Given the description of an element on the screen output the (x, y) to click on. 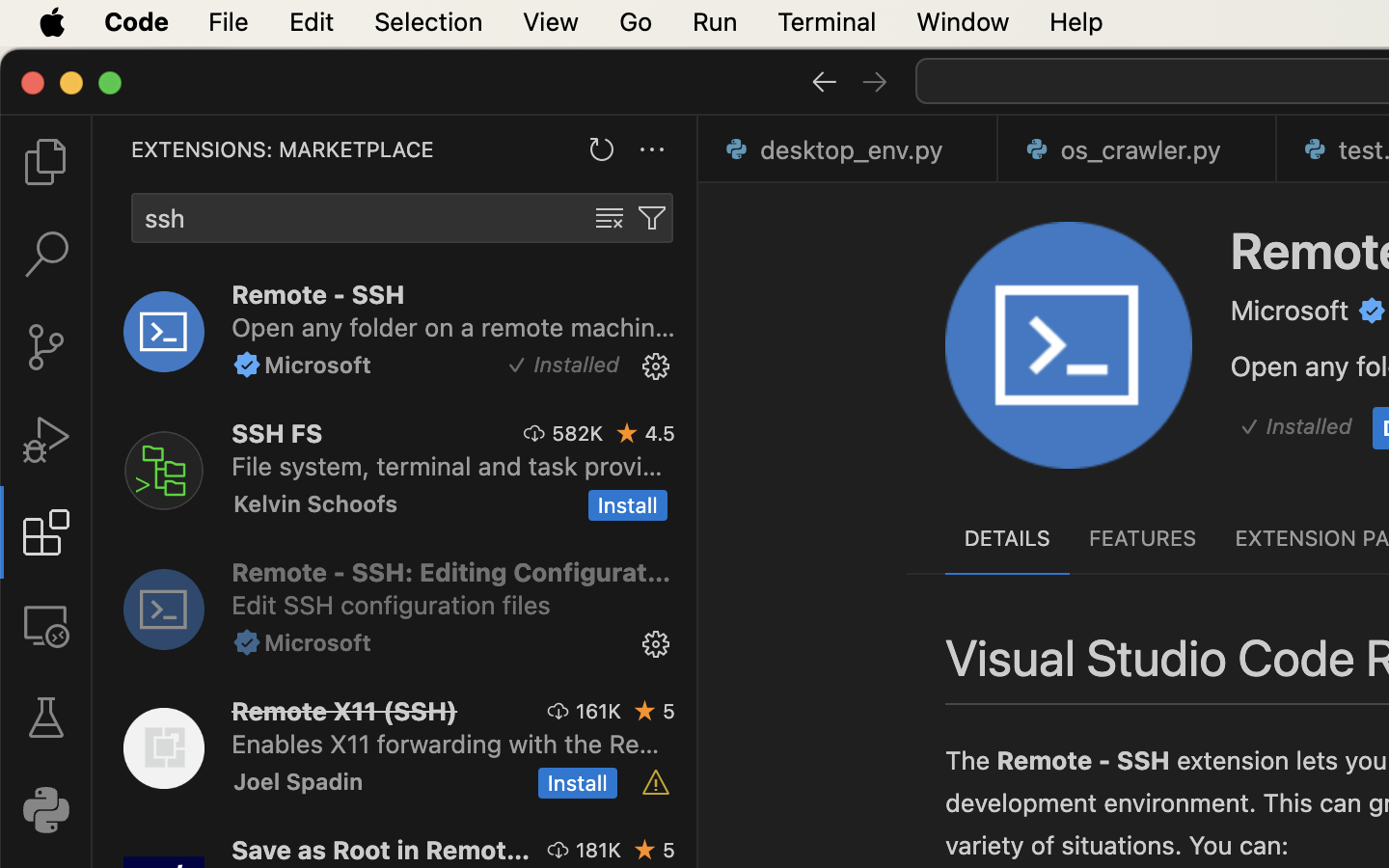
 Element type: AXStaticText (655, 782)
 Element type: AXButton (609, 217)
 Element type: AXButton (824, 80)
1  Element type: AXRadioButton (46, 532)
582K Element type: AXStaticText (577, 432)
